Given the description of an element on the screen output the (x, y) to click on. 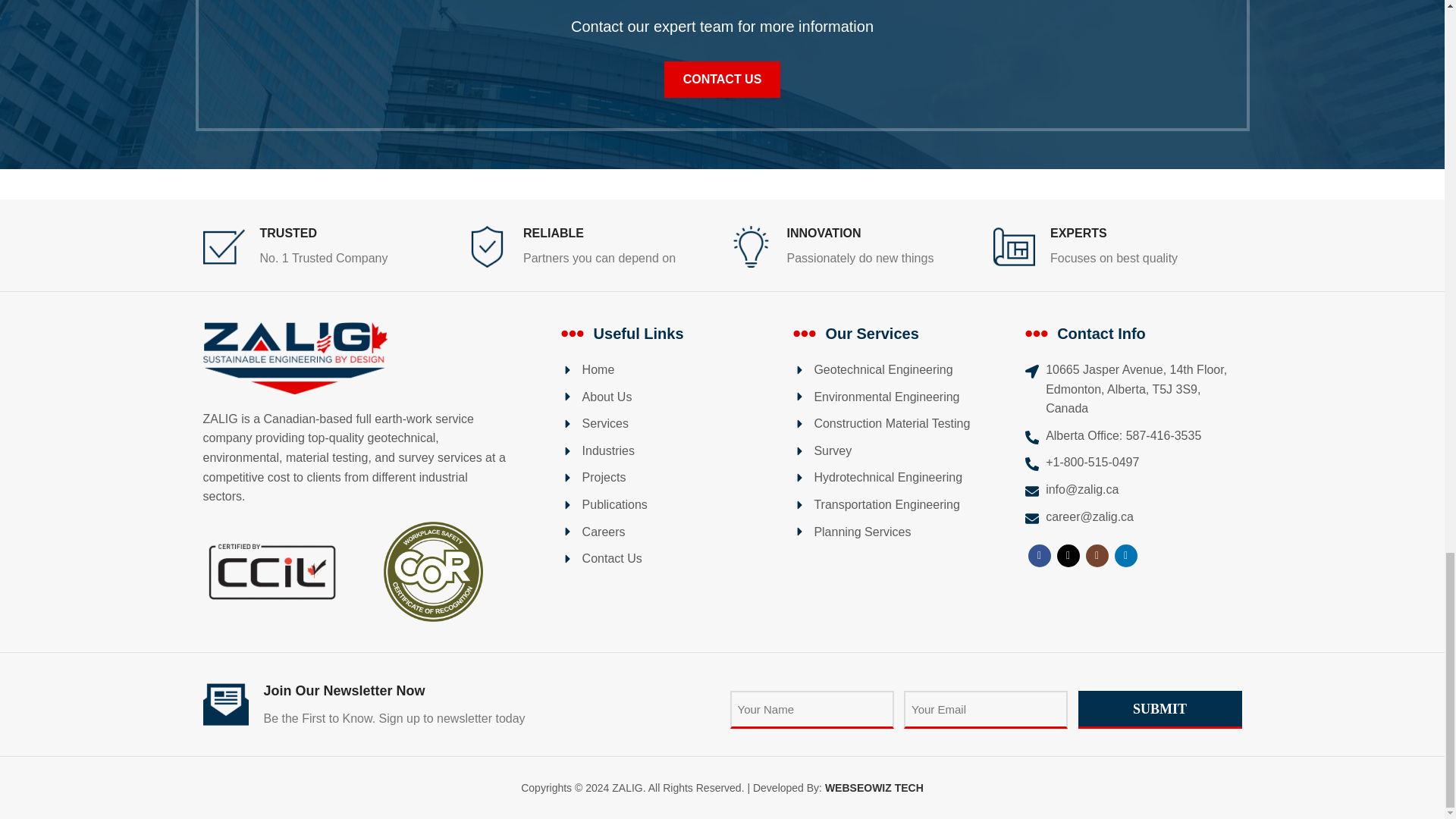
Submit (1159, 709)
